Given the description of an element on the screen output the (x, y) to click on. 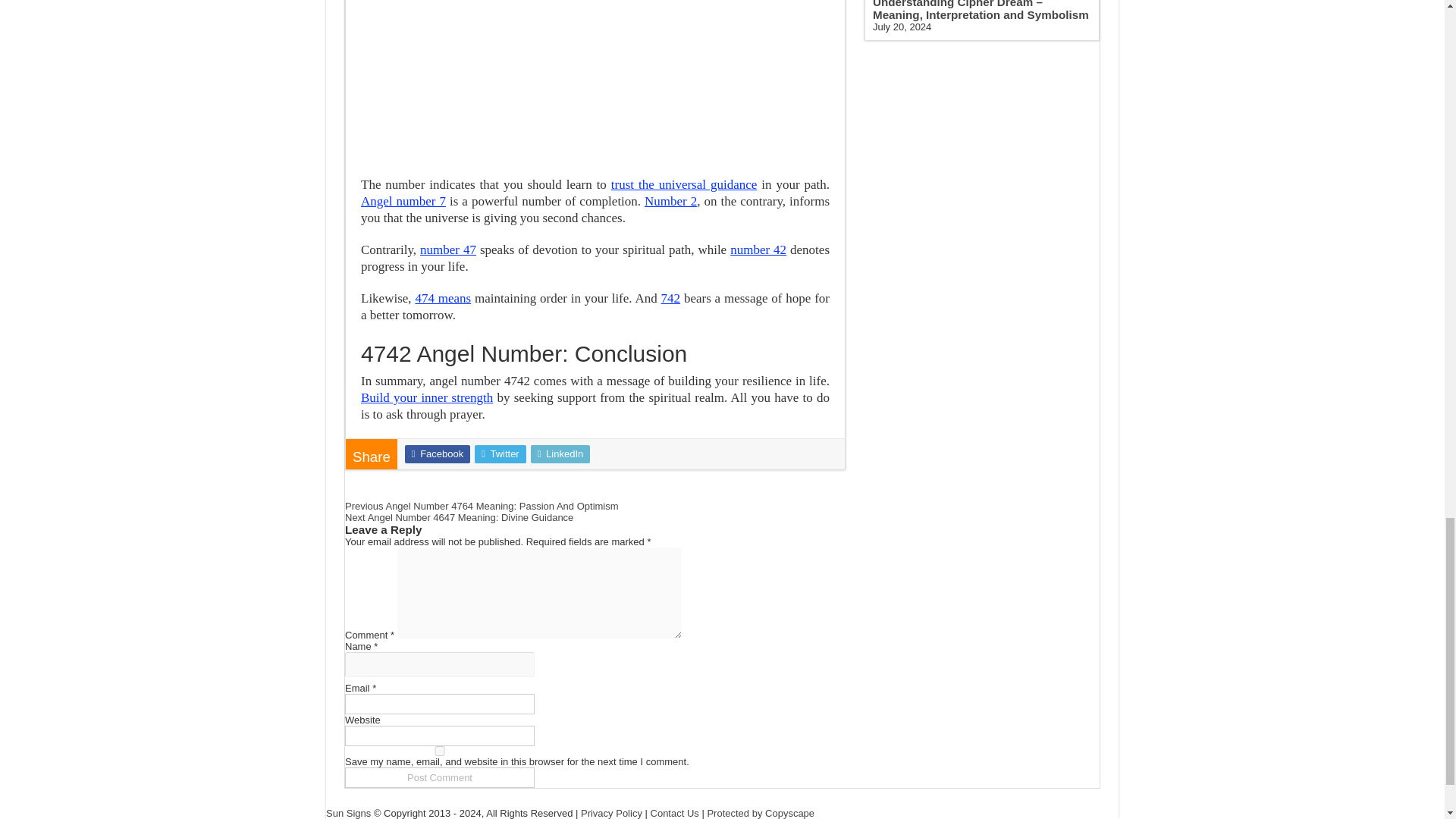
Facebook (437, 454)
742 (671, 298)
yes (439, 750)
Number 2 (671, 201)
LinkedIn (561, 454)
number 42 (758, 249)
Build your inner strength (427, 397)
Post Comment (439, 777)
Previous Angel Number 4764 Meaning: Passion And Optimism (481, 505)
Angel number 7 (403, 201)
Twitter (499, 454)
474 means (442, 298)
Next Angel Number 4647 Meaning: Divine Guidance (459, 517)
trust the universal guidance (684, 184)
Post Comment (439, 777)
